Given the description of an element on the screen output the (x, y) to click on. 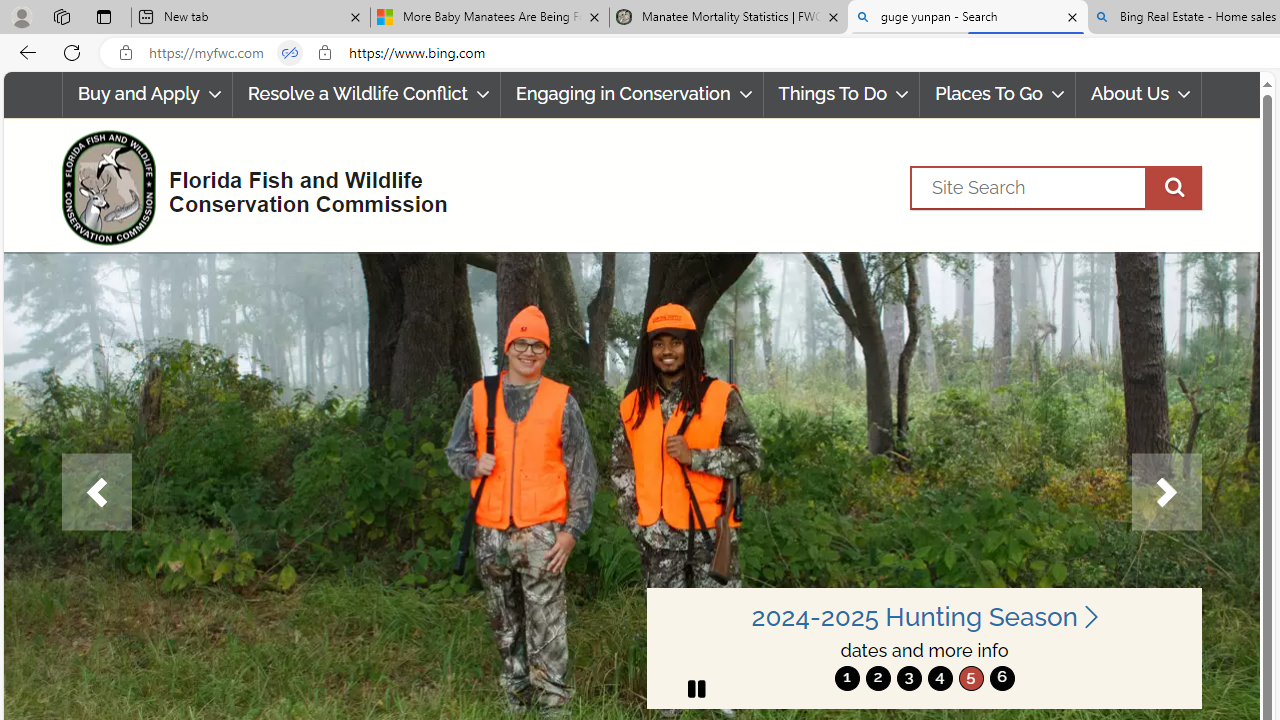
1 (847, 678)
move to slide 2 (877, 678)
move to slide 4 (939, 678)
About Us (1138, 94)
2024-2025 Hunting Season  (924, 616)
move to slide 1 (847, 678)
4 (939, 678)
Places To Go (997, 94)
move to slide 3 (908, 678)
FWC Logo Florida Fish and Wildlife Conservation Commission (246, 185)
Resolve a Wildlife Conflict (365, 94)
